Given the description of an element on the screen output the (x, y) to click on. 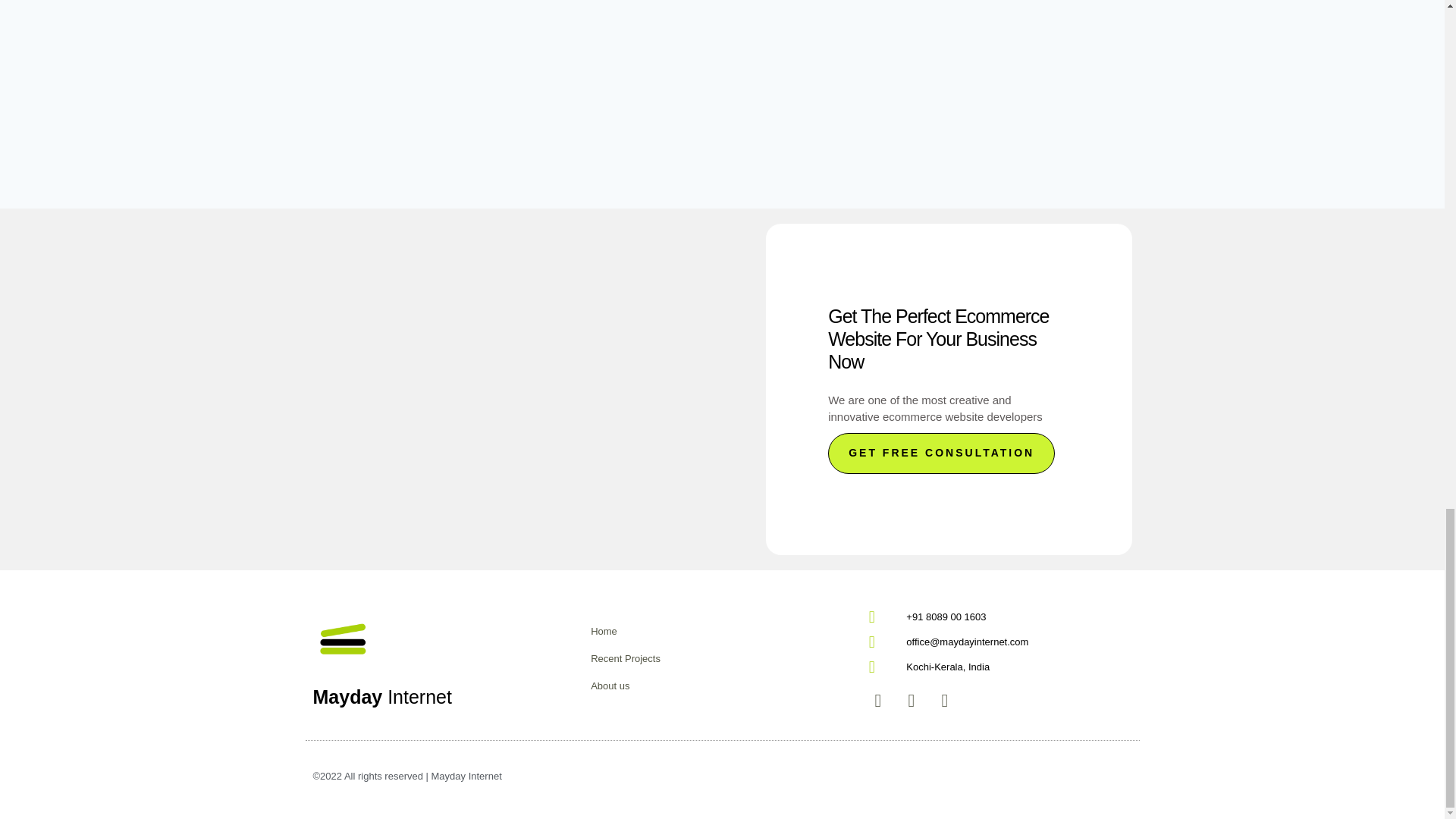
GET FREE CONSULTATION (941, 453)
Recent Projects (722, 658)
Home (722, 631)
About us (722, 685)
